Given the description of an element on the screen output the (x, y) to click on. 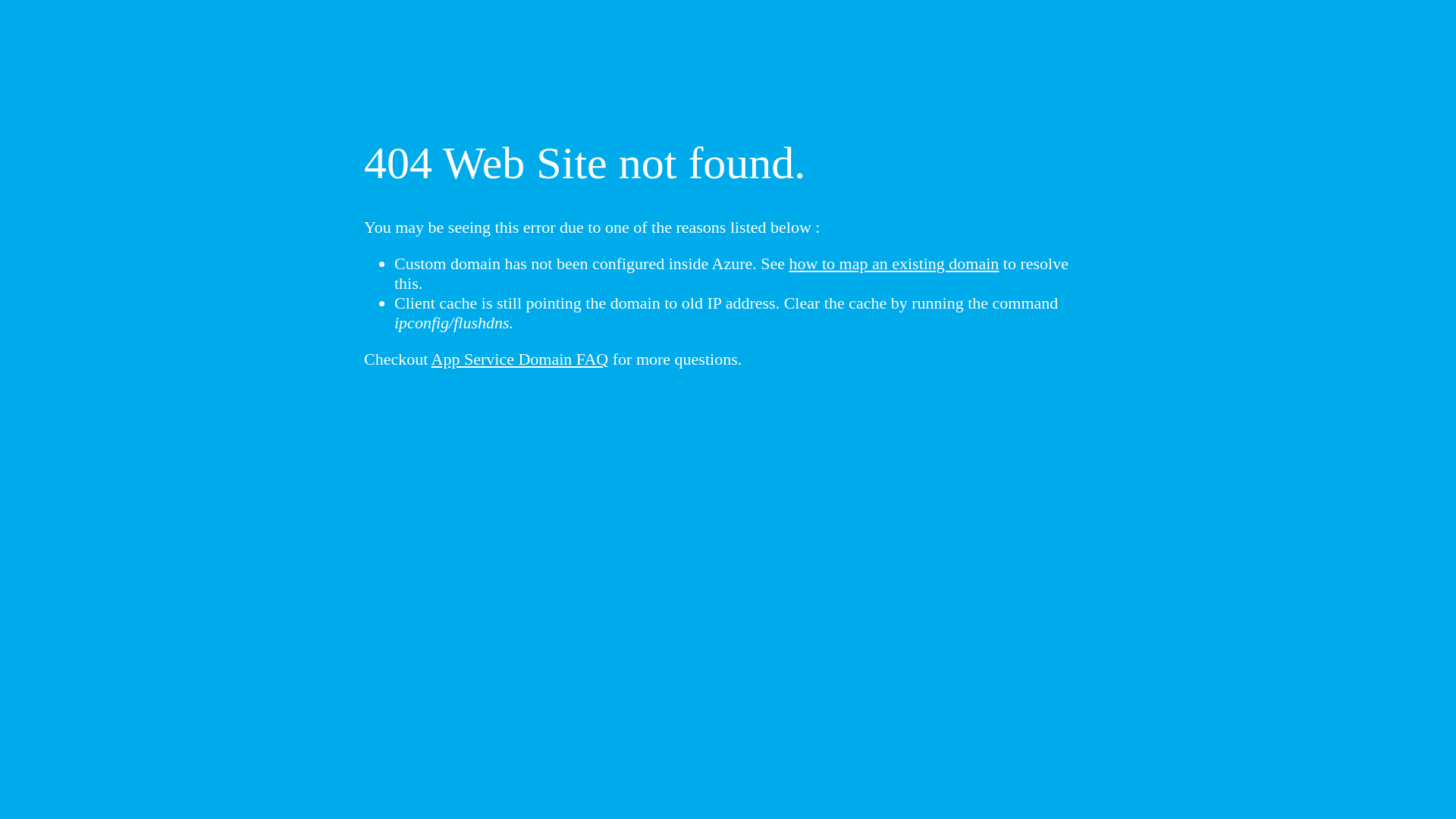
App Service Domain FAQ Element type: text (519, 358)
how to map an existing domain Element type: text (894, 263)
